Given the description of an element on the screen output the (x, y) to click on. 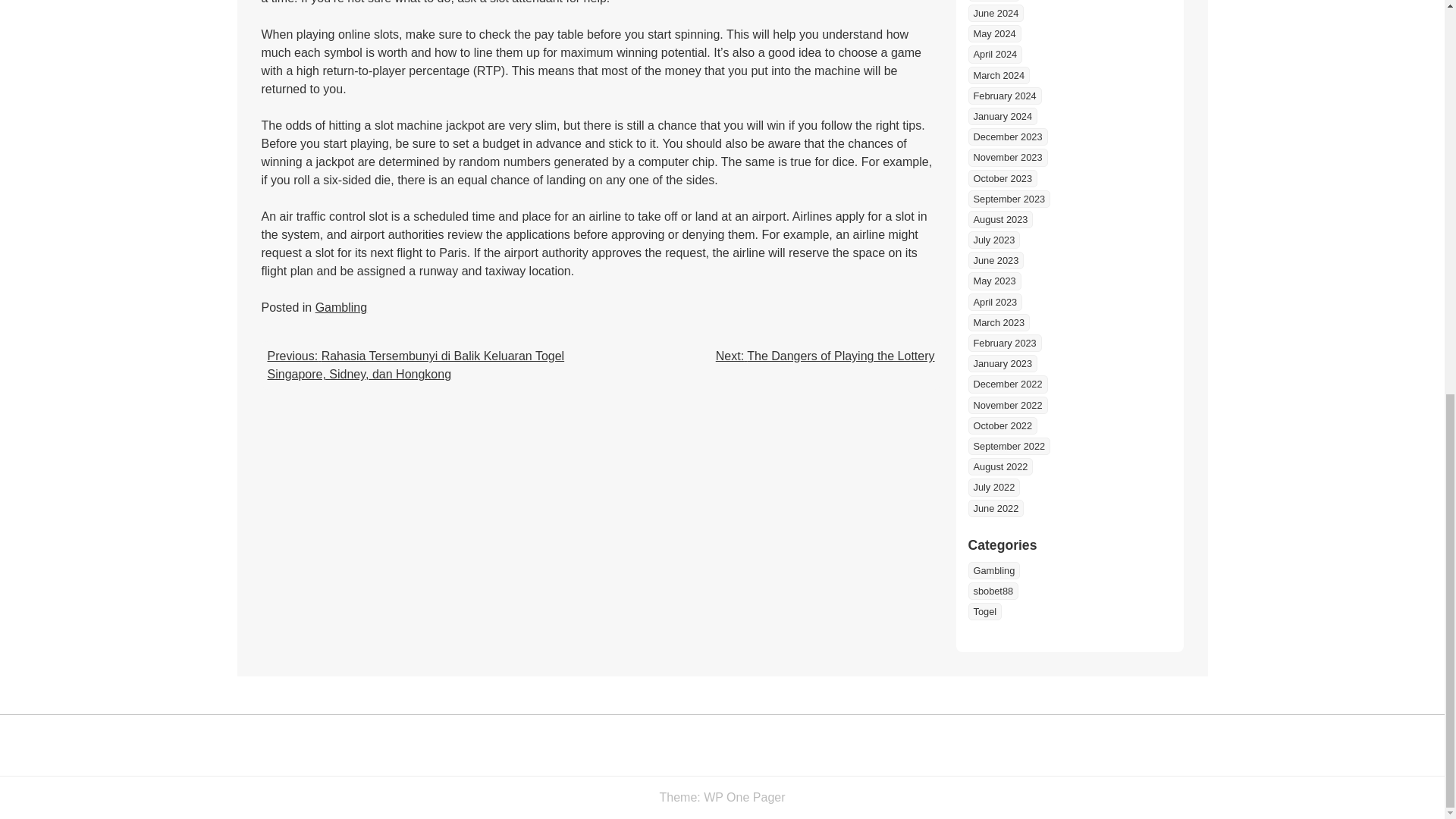
December 2022 (1007, 384)
November 2022 (1007, 405)
May 2023 (994, 280)
March 2024 (998, 75)
January 2024 (1002, 116)
May 2024 (994, 33)
July 2023 (994, 239)
October 2022 (1002, 425)
March 2023 (998, 322)
January 2023 (1002, 363)
November 2023 (1007, 157)
August 2023 (1000, 219)
September 2023 (1008, 199)
September 2022 (1008, 446)
